Given the description of an element on the screen output the (x, y) to click on. 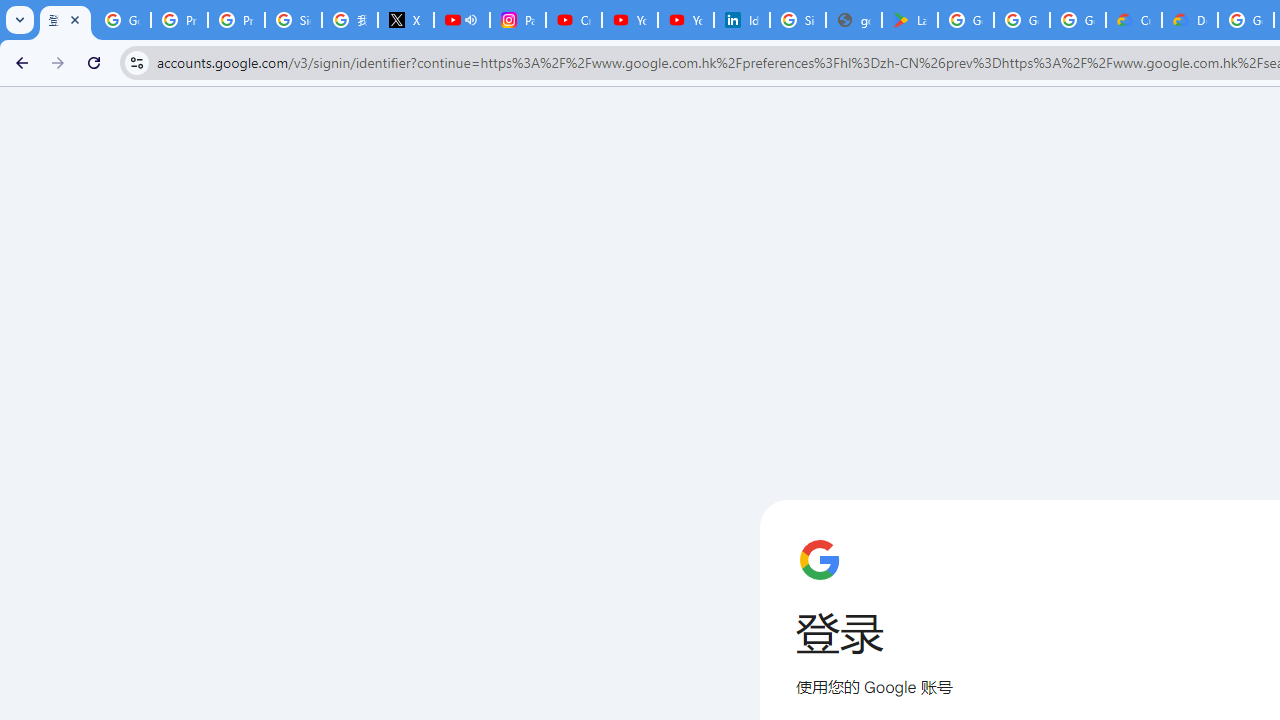
Privacy Help Center - Policies Help (179, 20)
google_privacy_policy_en.pdf (853, 20)
Sign in - Google Accounts (293, 20)
Privacy Help Center - Policies Help (235, 20)
